Given the description of an element on the screen output the (x, y) to click on. 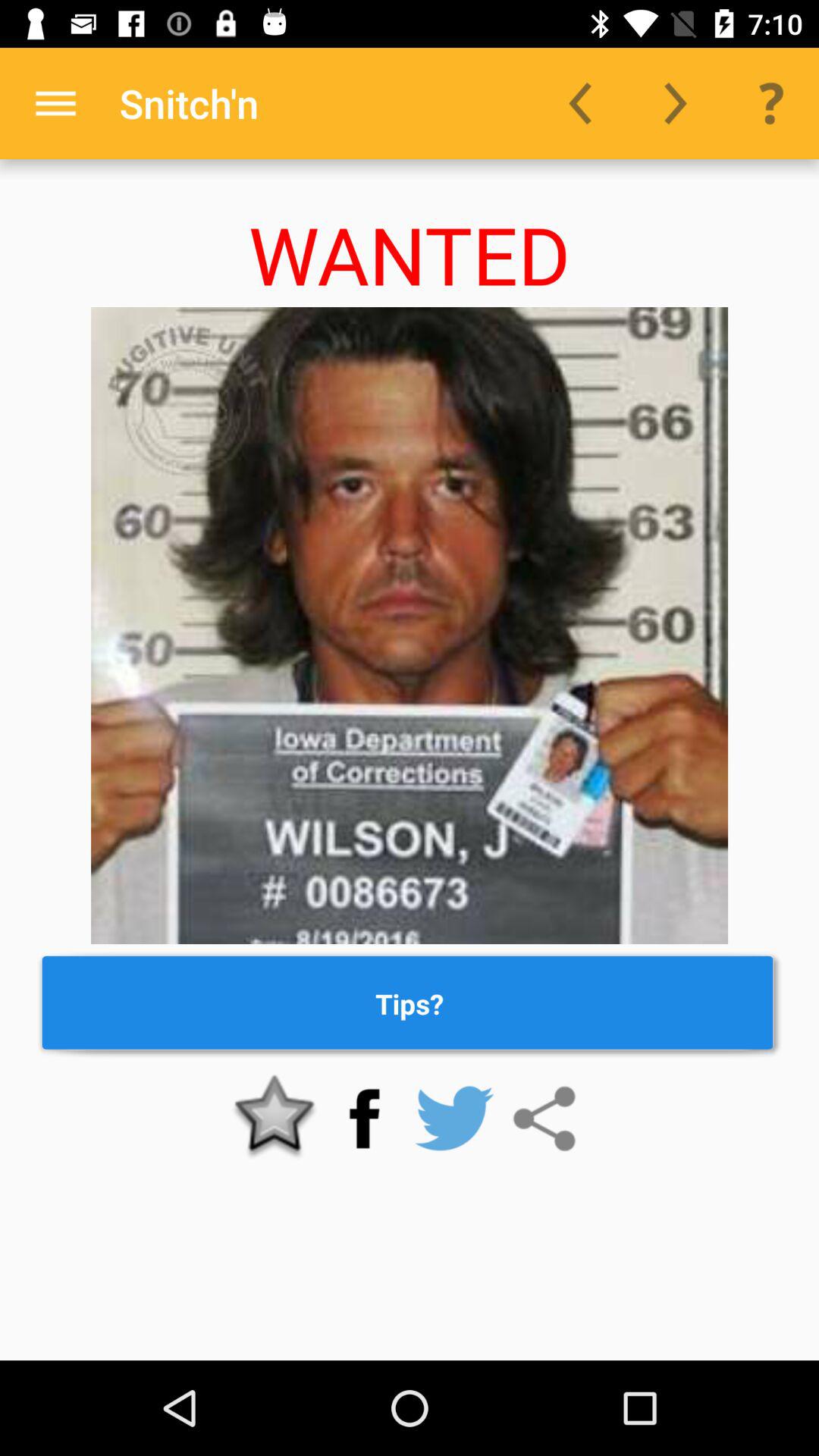
share on facebook (364, 1118)
